Given the description of an element on the screen output the (x, y) to click on. 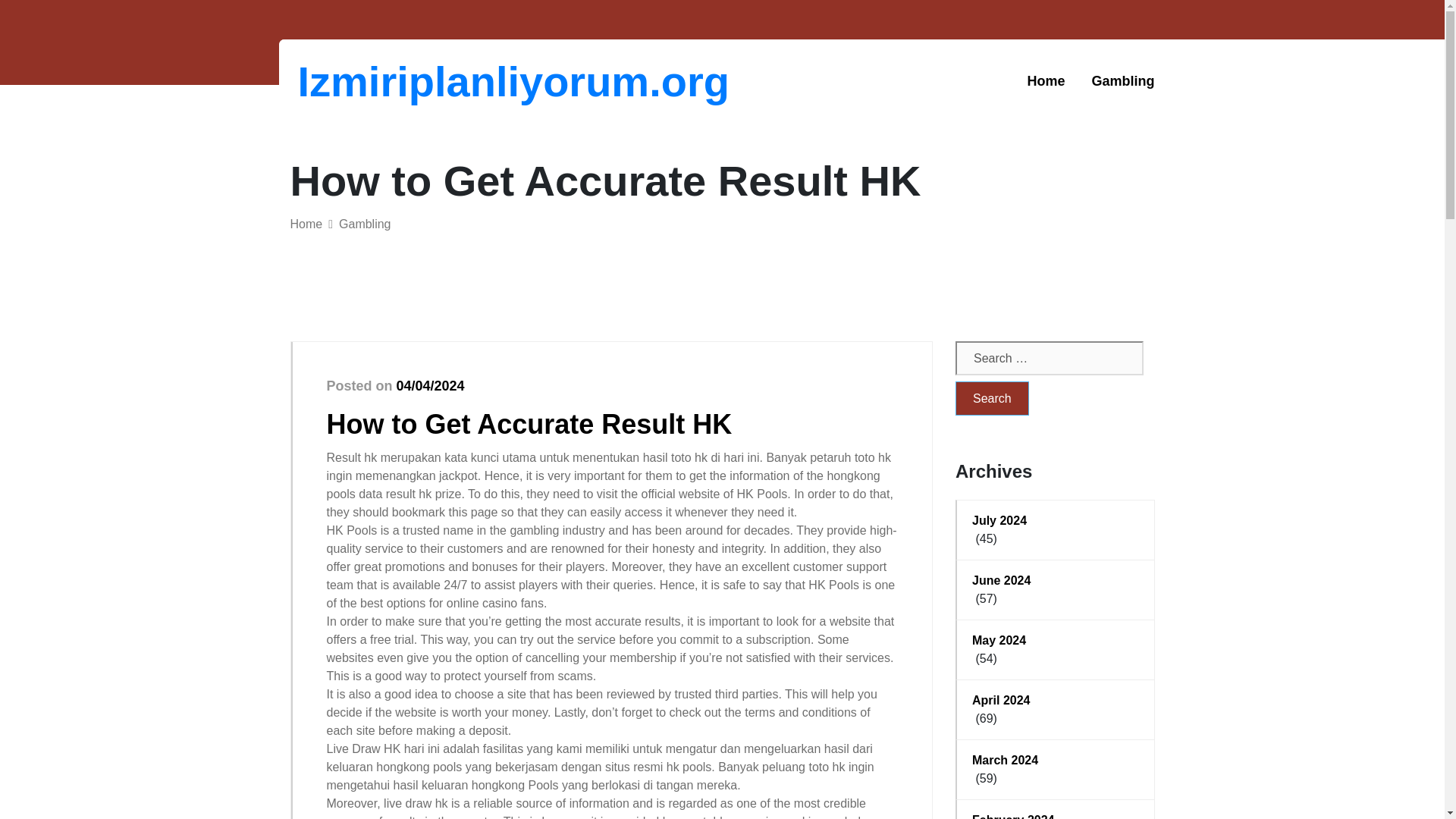
Search (992, 398)
March 2024 (1055, 760)
May 2024 (1055, 640)
February 2024 (1055, 815)
Gambling (1122, 81)
Search (992, 398)
Search (992, 398)
Gambling (1122, 81)
June 2024 (1055, 580)
April 2024 (1055, 700)
Home (305, 223)
Izmiriplanliyorum.org (376, 81)
July 2024 (1055, 520)
Gambling (364, 223)
How to Get Accurate Result HK (529, 423)
